Given the description of an element on the screen output the (x, y) to click on. 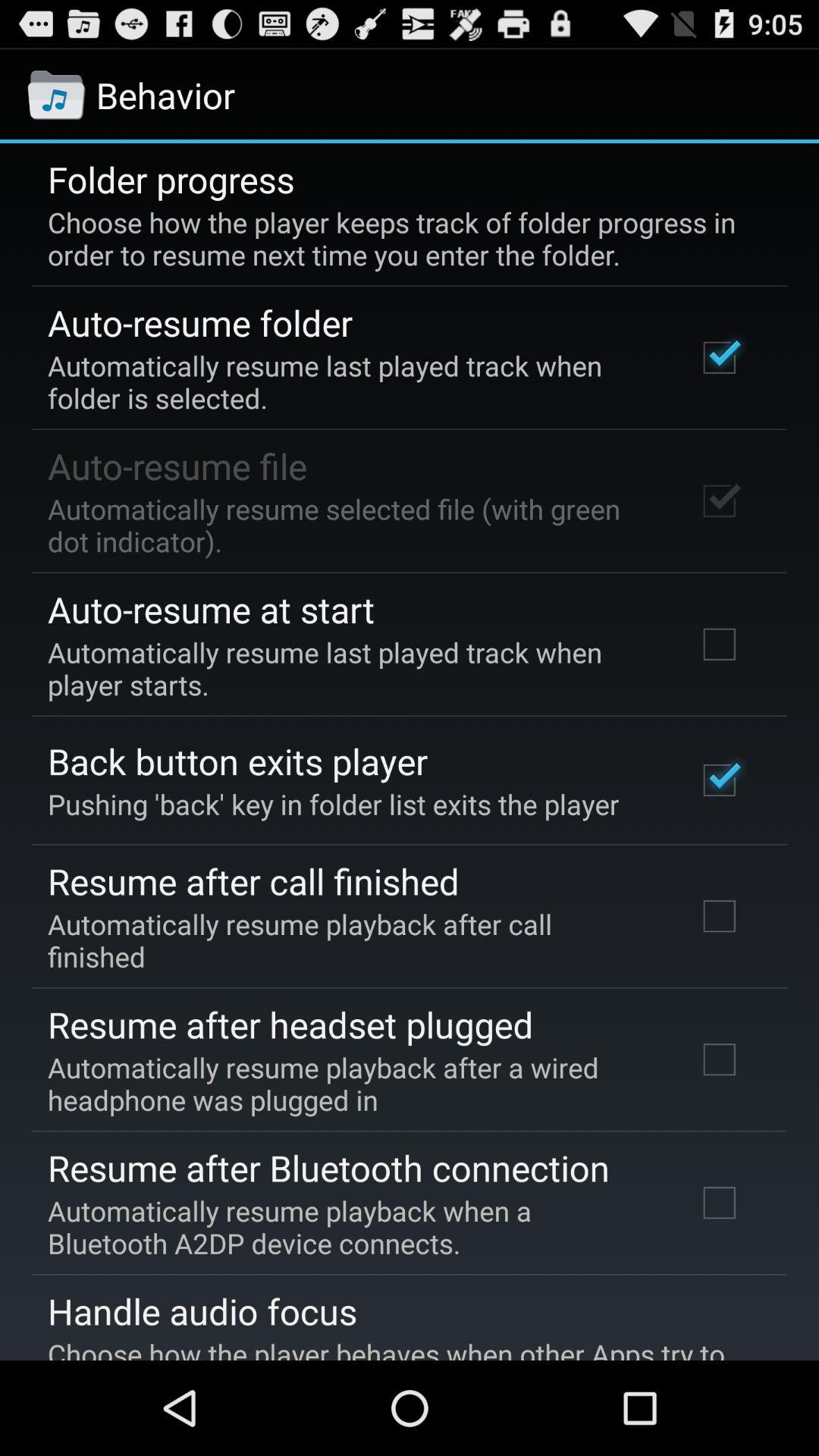
scroll until handle audio focus item (202, 1311)
